Given the description of an element on the screen output the (x, y) to click on. 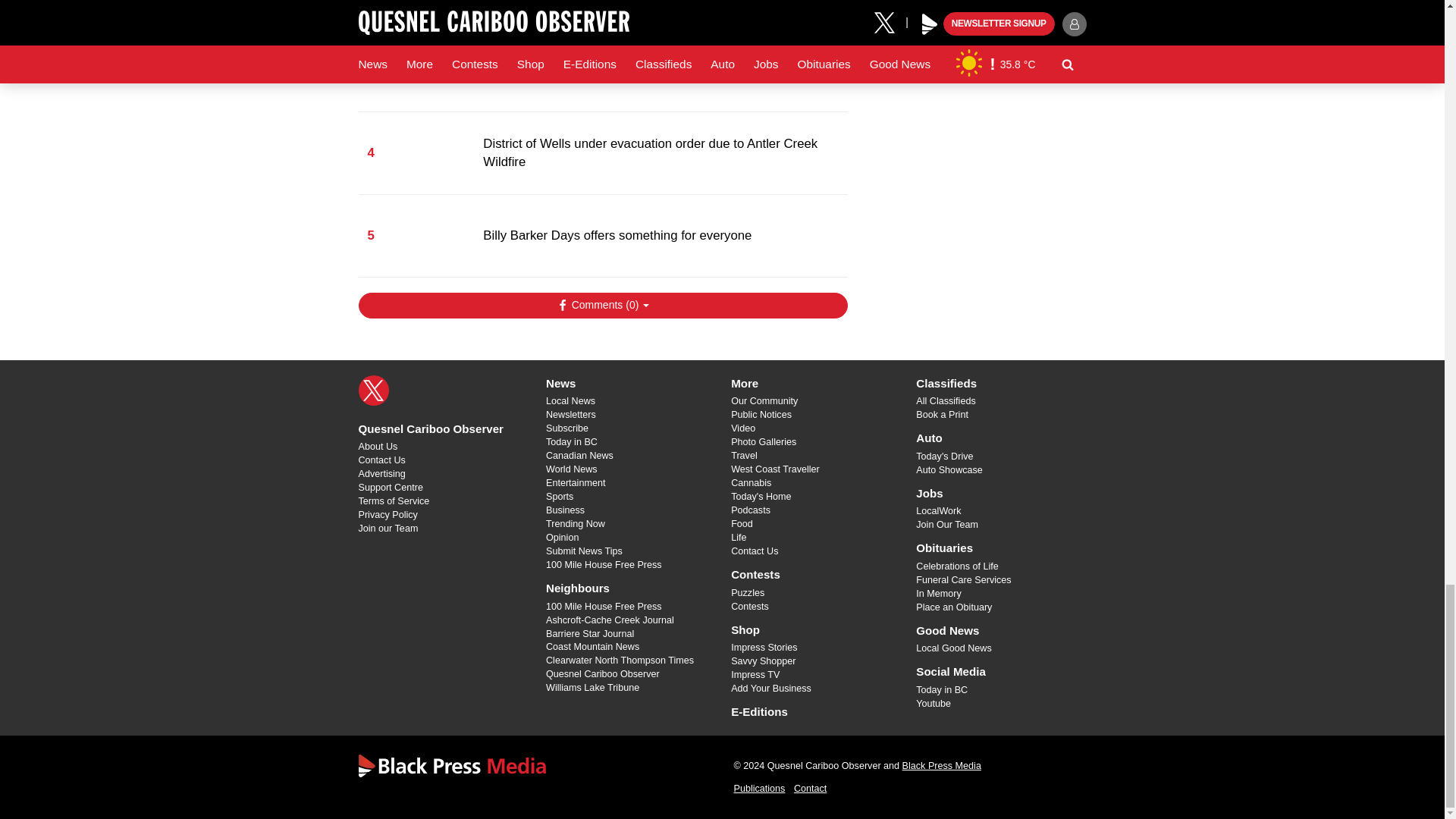
X (373, 390)
Show Comments (602, 305)
